Given the description of an element on the screen output the (x, y) to click on. 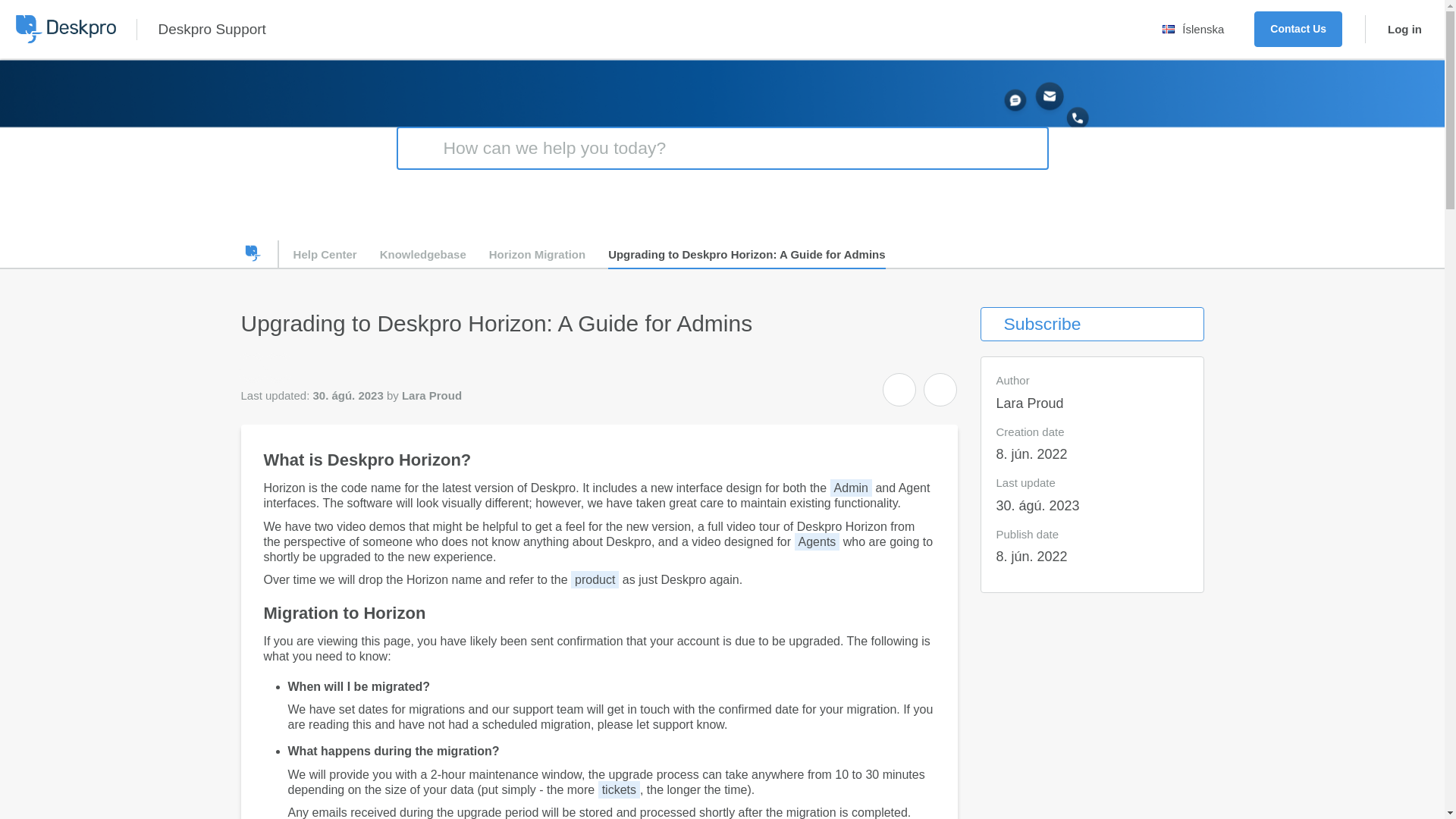
Lara Proud (277, 367)
Deskpro Support (210, 29)
Hannah Scott (250, 367)
